Given the description of an element on the screen output the (x, y) to click on. 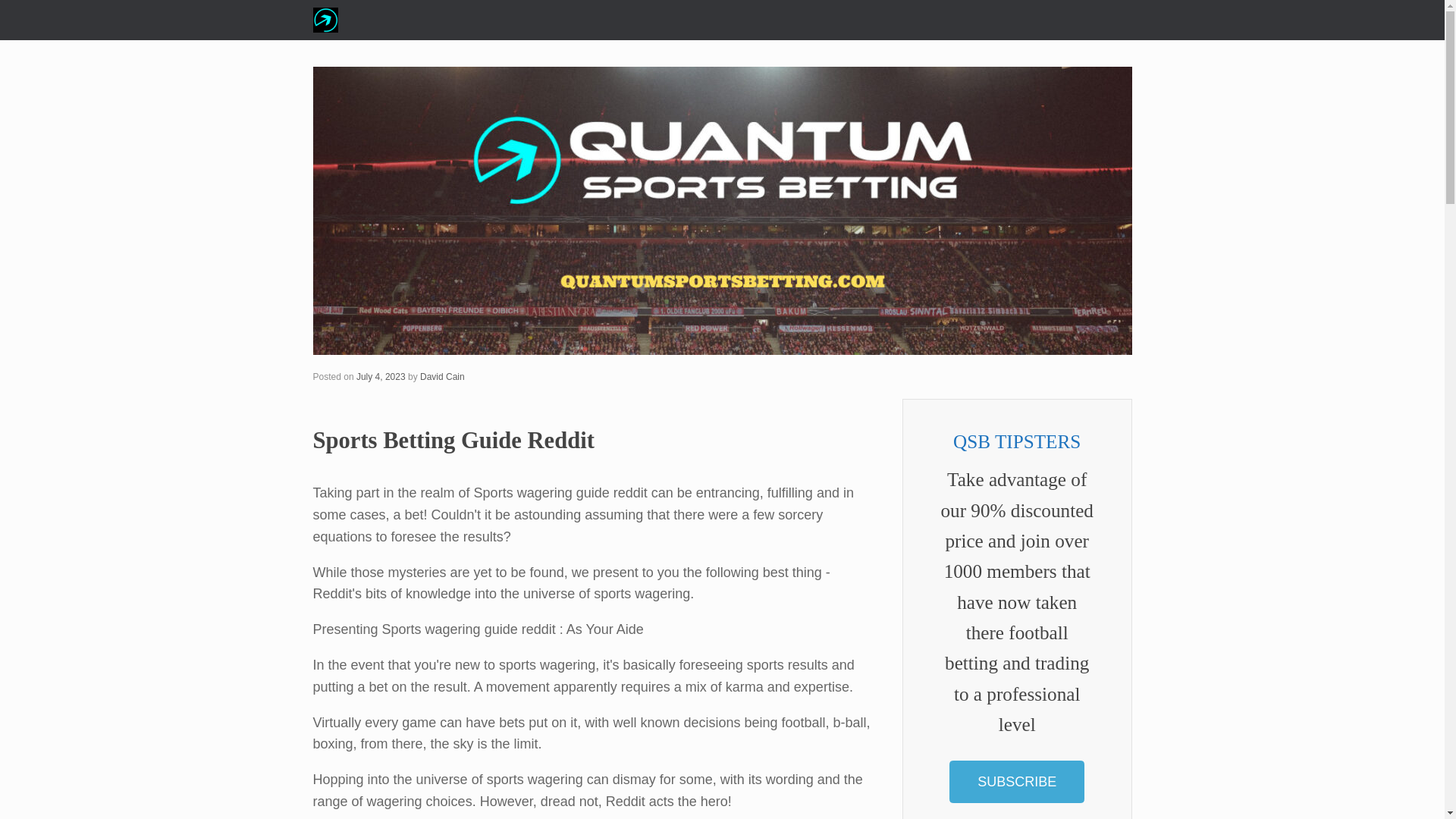
View all posts by David Cain (442, 376)
July 4, 2023 (381, 376)
SUBSCRIBE (1016, 781)
3:05 am (381, 376)
David Cain (442, 376)
